Given the description of an element on the screen output the (x, y) to click on. 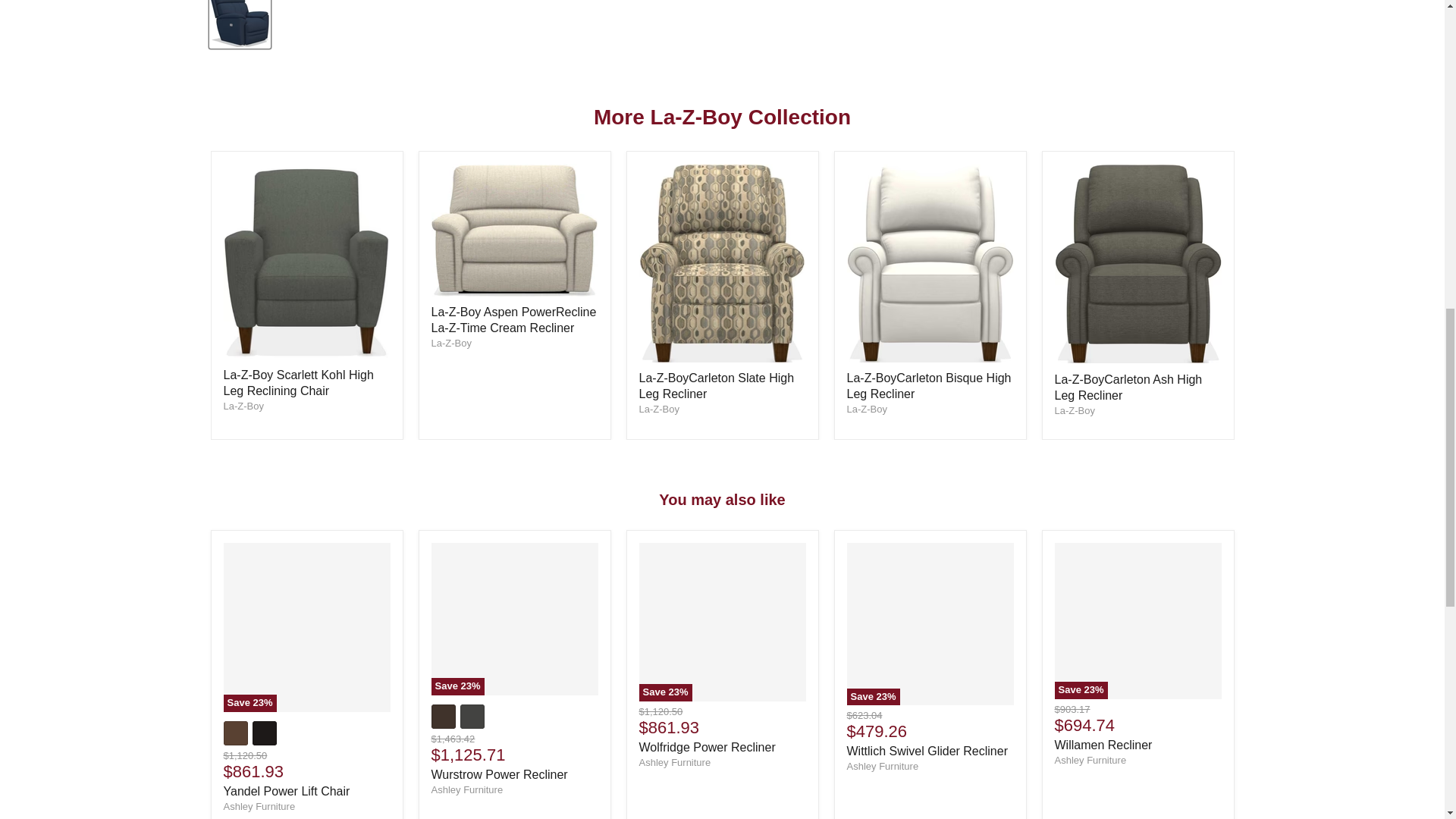
La-Z-Boy (242, 405)
La-Z-Boy (865, 408)
Ashley Furniture (466, 789)
La-Z-Boy (1074, 410)
Ashley Furniture (881, 766)
Ashley Furniture (674, 762)
La-Z-Boy (658, 408)
Ashley Furniture (1089, 759)
Ashley Furniture (258, 806)
La-Z-Boy (450, 342)
